Given the description of an element on the screen output the (x, y) to click on. 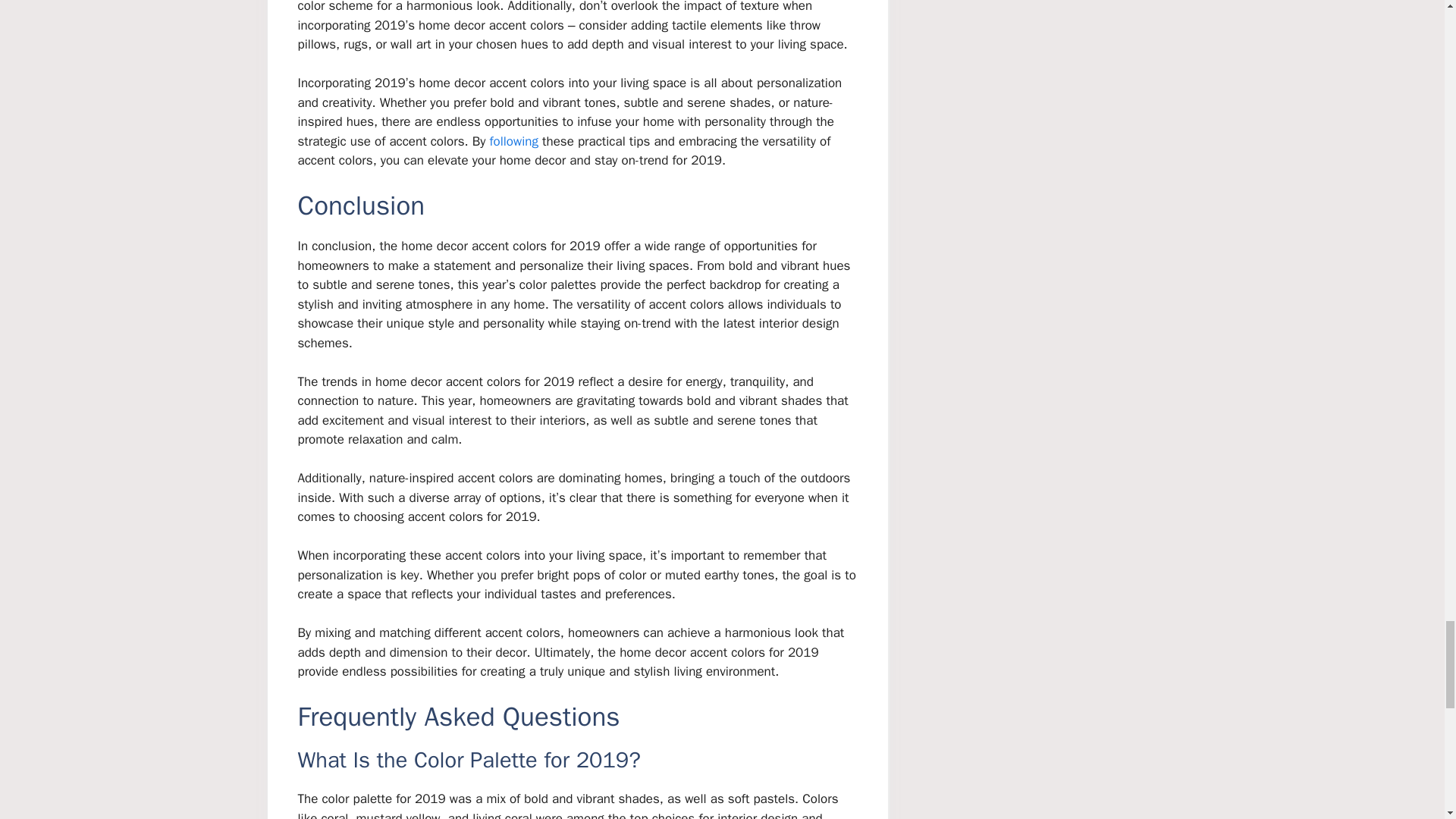
following (513, 141)
